Given the description of an element on the screen output the (x, y) to click on. 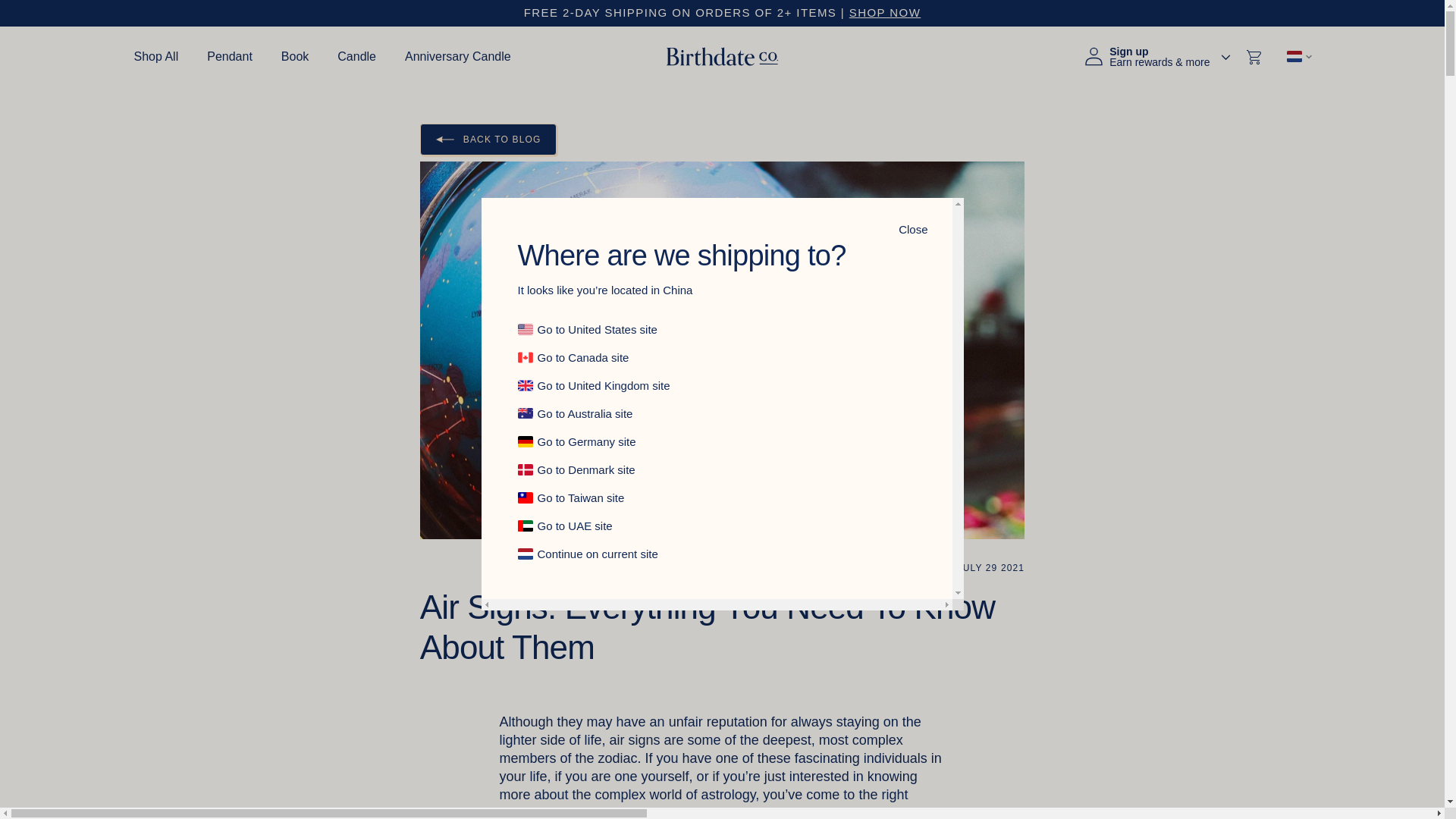
Book (294, 56)
Candle (356, 56)
Shop All (155, 56)
Pendant (228, 56)
Anniversary Candle (457, 56)
